Given the description of an element on the screen output the (x, y) to click on. 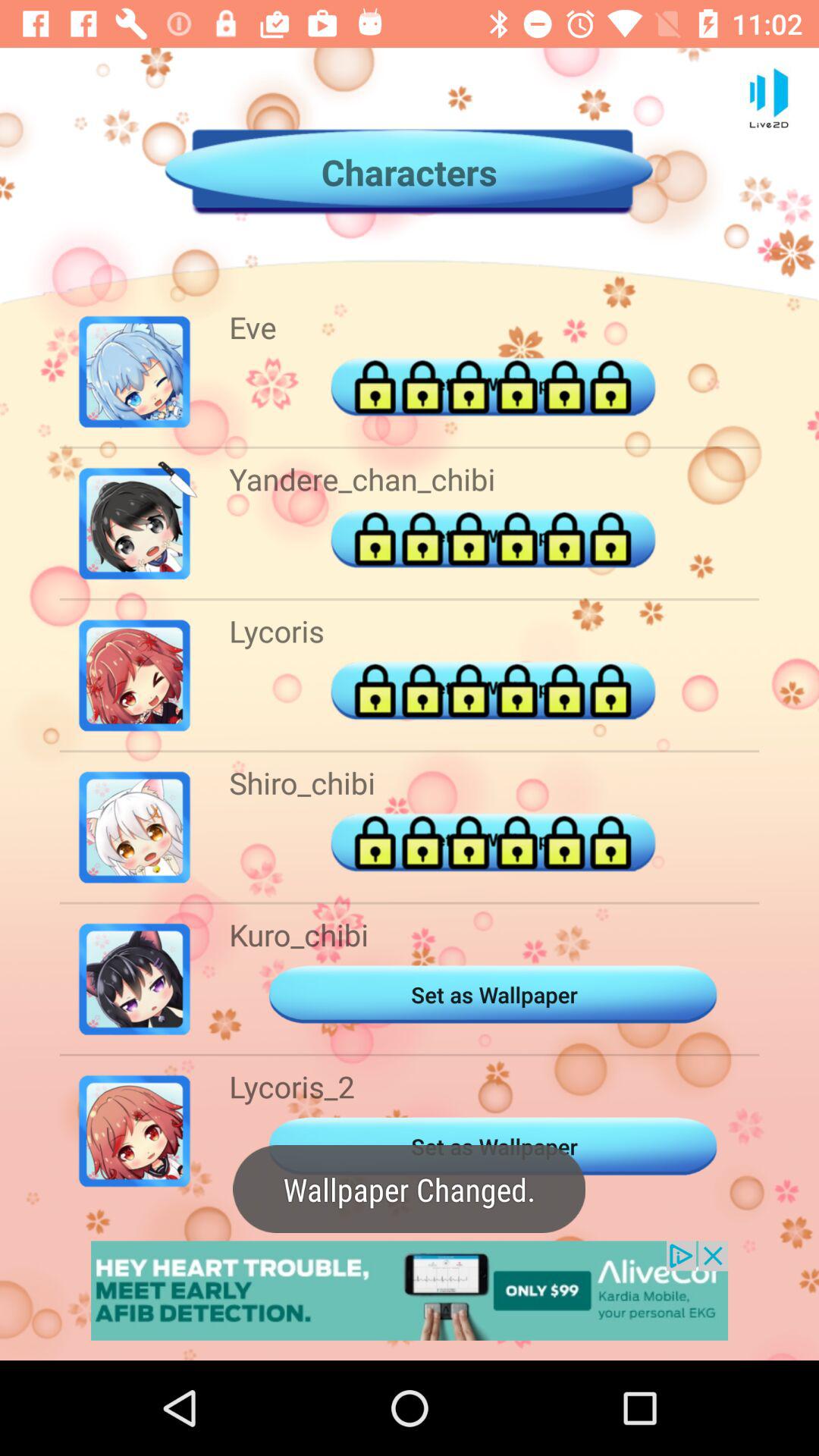
visit the page (409, 1290)
